Given the description of an element on the screen output the (x, y) to click on. 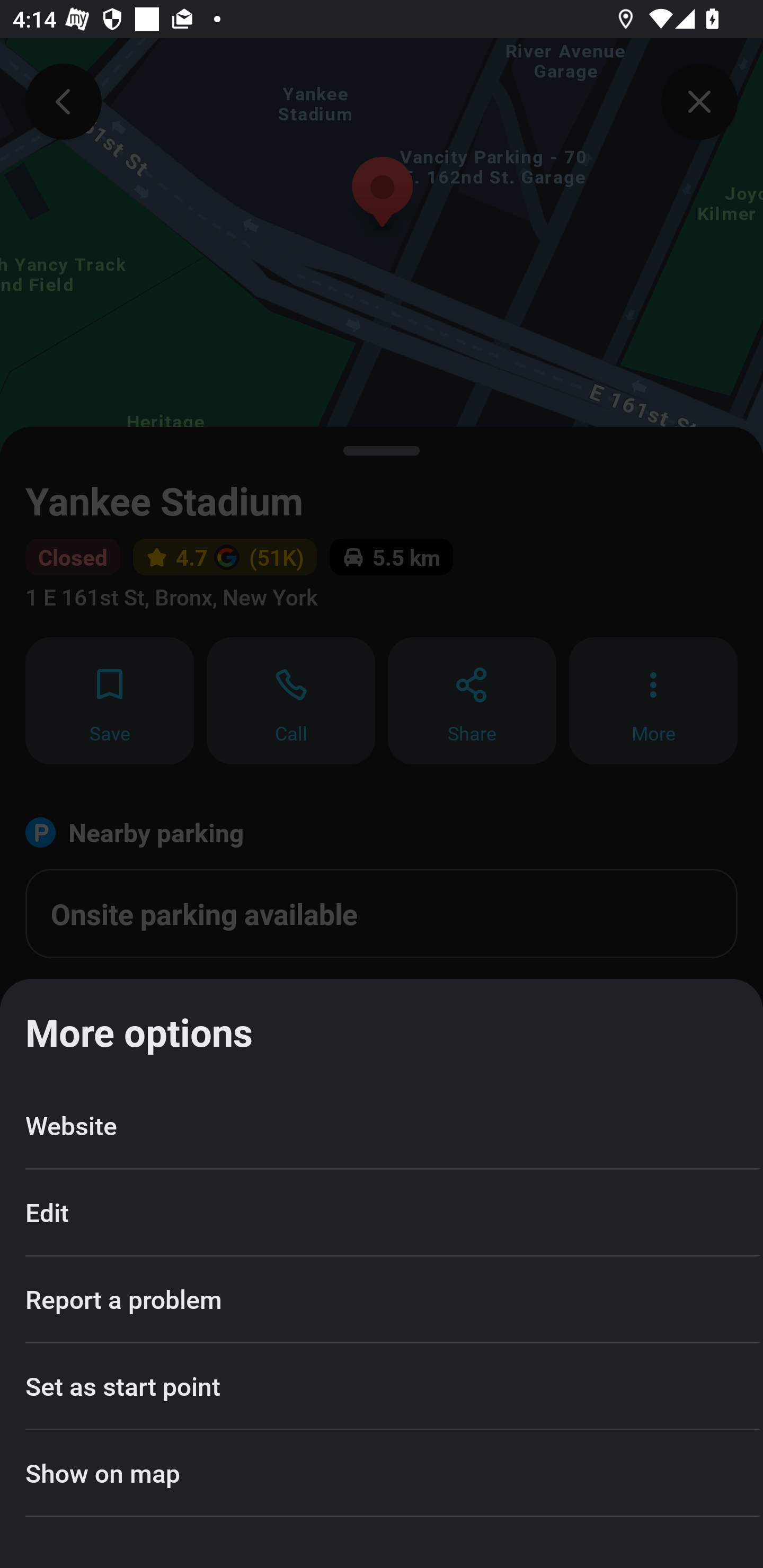
Website ACTION_CELL_TEXT (381, 1126)
Edit ACTION_CELL_TEXT (381, 1212)
Report a problem ACTION_CELL_TEXT (381, 1299)
Set as start point ACTION_CELL_TEXT (381, 1386)
Show on map ACTION_CELL_TEXT (381, 1473)
